Given the description of an element on the screen output the (x, y) to click on. 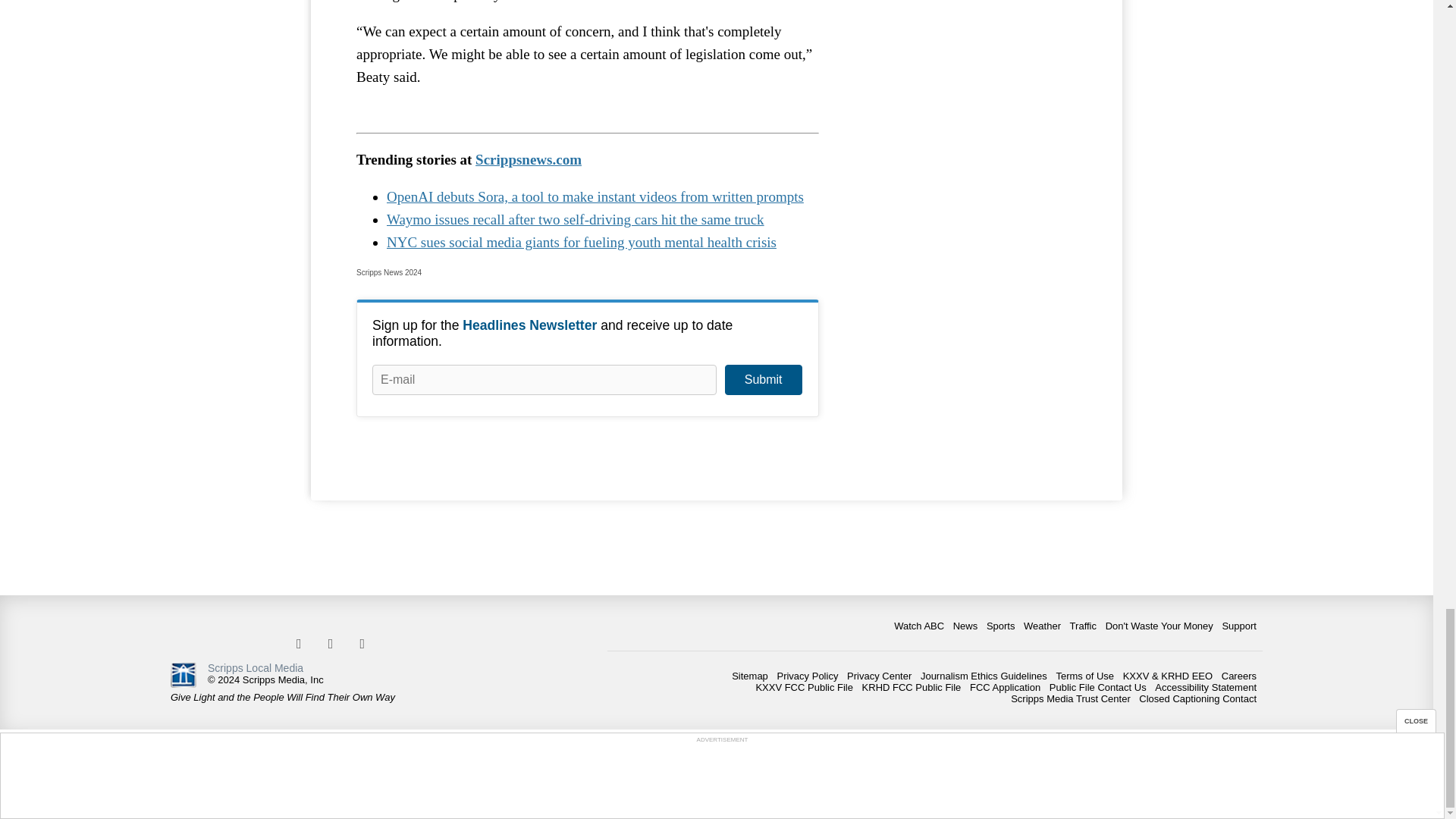
Submit (763, 379)
